Given the description of an element on the screen output the (x, y) to click on. 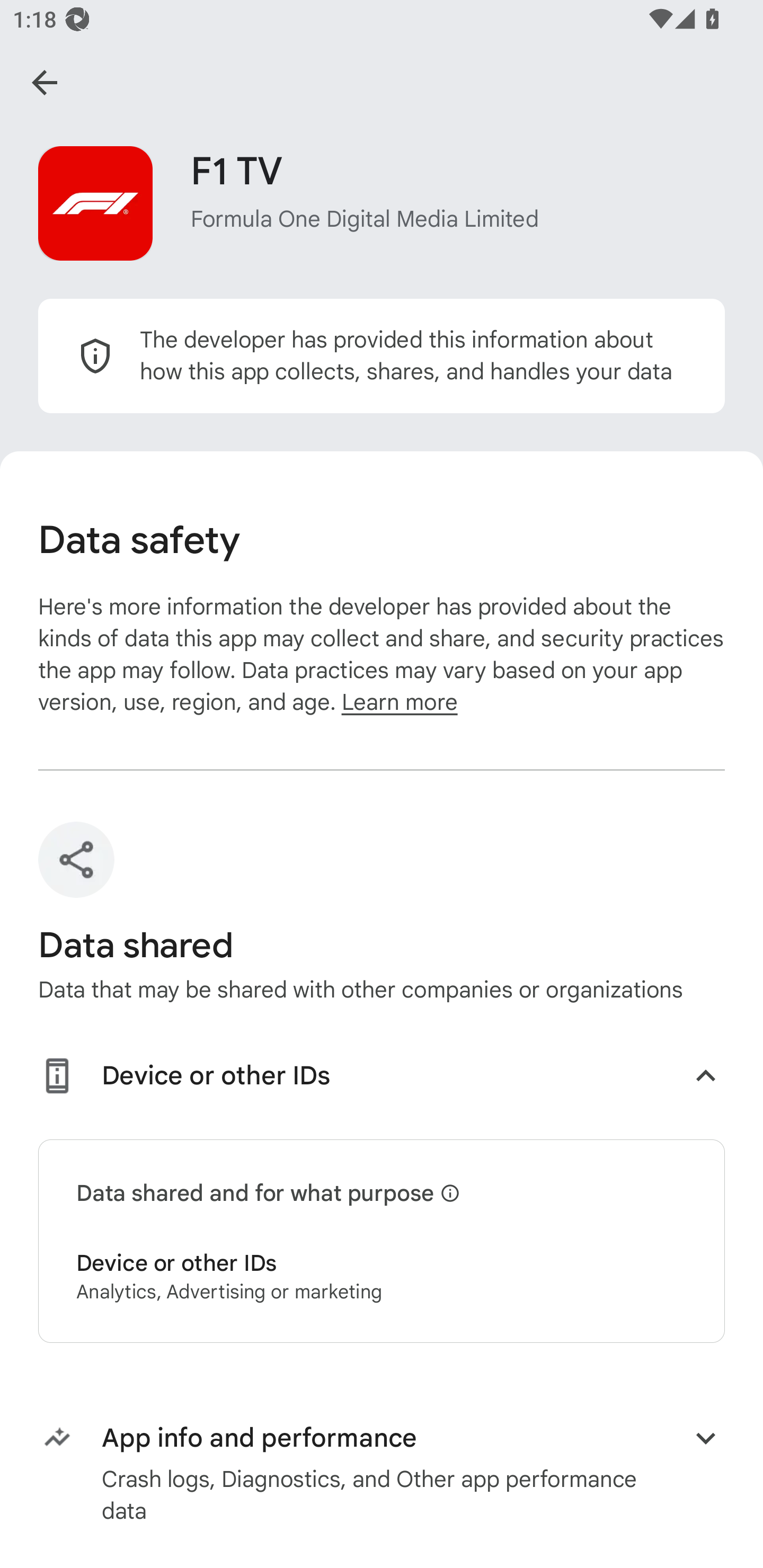
Navigate up (44, 82)
heading Device or other IDs Collapse button (381, 1078)
